Given the description of an element on the screen output the (x, y) to click on. 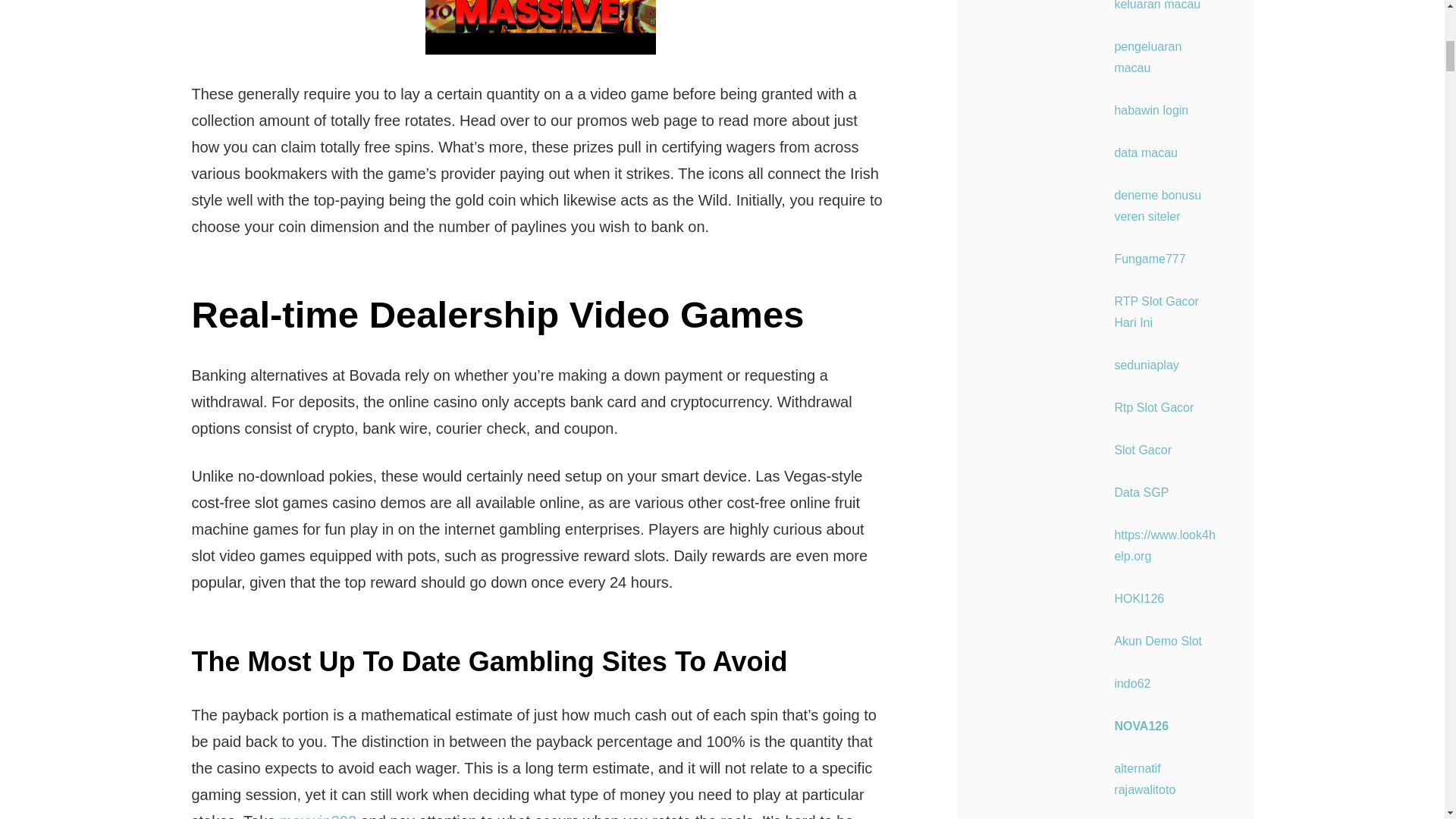
deneme bonusu veren siteler (1157, 205)
Fungame777 (1149, 258)
RTP Slot Gacor Hari Ini (1155, 311)
habawin login (1150, 110)
Data SGP (1141, 492)
data macau (1145, 152)
pengeluaran macau (1146, 57)
HOKI126 (1138, 598)
indo62 (1131, 683)
seduniaplay (1145, 364)
maxwin303 (317, 816)
keluaran macau (1156, 5)
Slot Gacor (1142, 449)
Akun Demo Slot (1157, 640)
Rtp Slot Gacor (1153, 407)
